Given the description of an element on the screen output the (x, y) to click on. 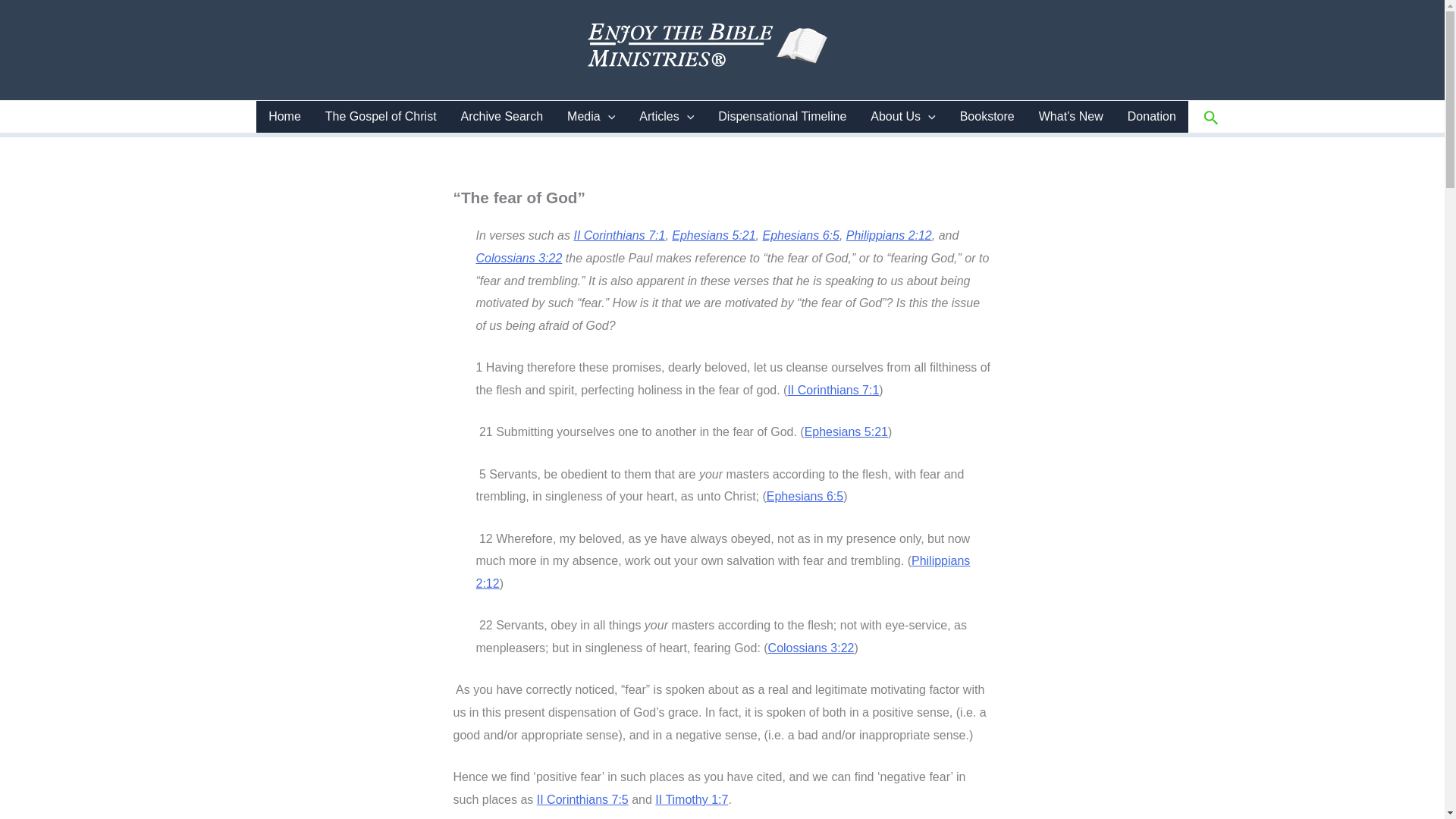
Donation (1151, 116)
Dispensational Timeline (782, 116)
Bookstore (986, 116)
Archive Search (502, 116)
Home (284, 116)
Media (590, 116)
The Gospel of Christ (380, 116)
Articles (666, 116)
About Us (903, 116)
